Given the description of an element on the screen output the (x, y) to click on. 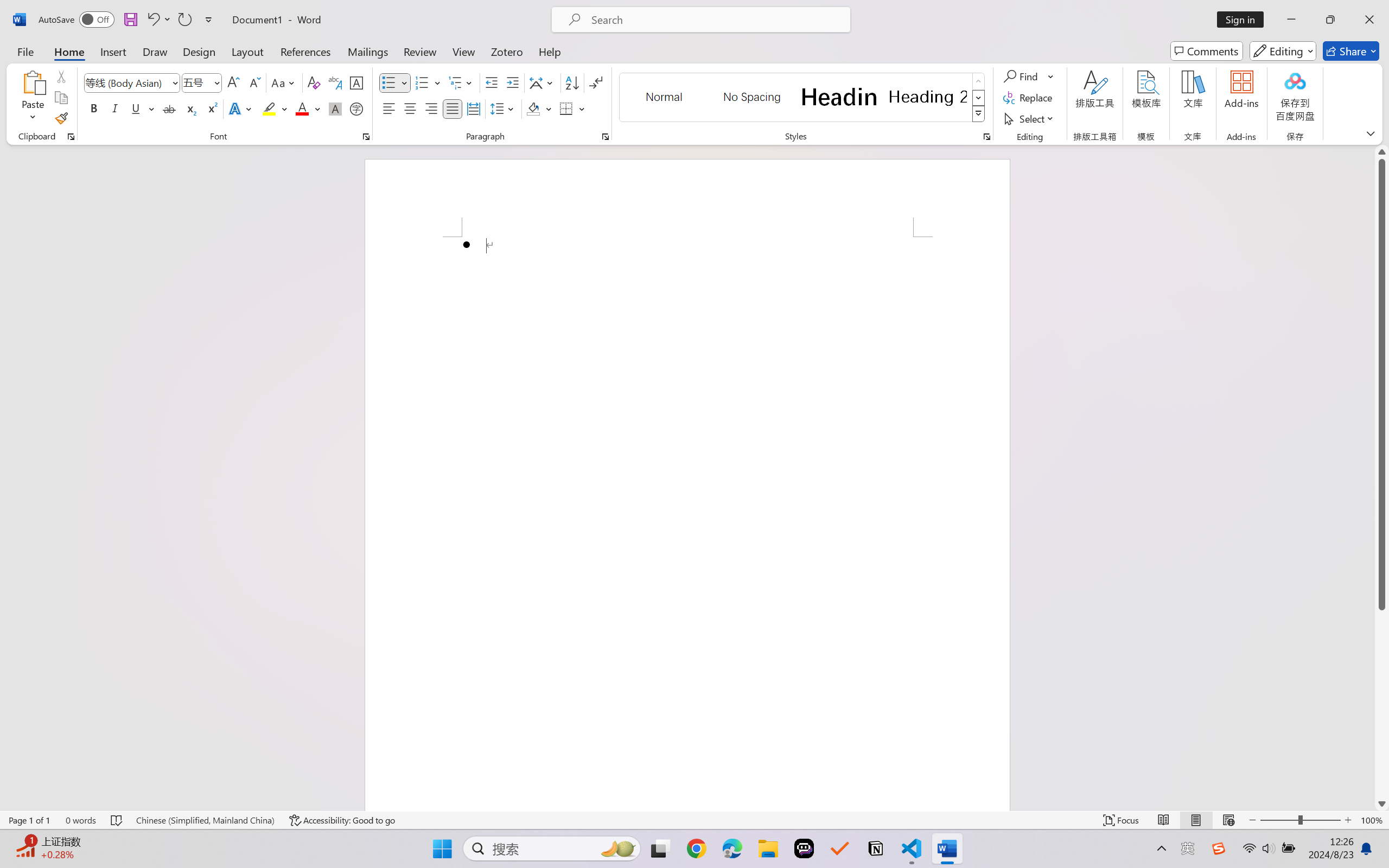
More source languages (544, 146)
Spanish (760, 145)
Google (859, 12)
Detect language (380, 145)
Send feedback (1017, 269)
